Given the description of an element on the screen output the (x, y) to click on. 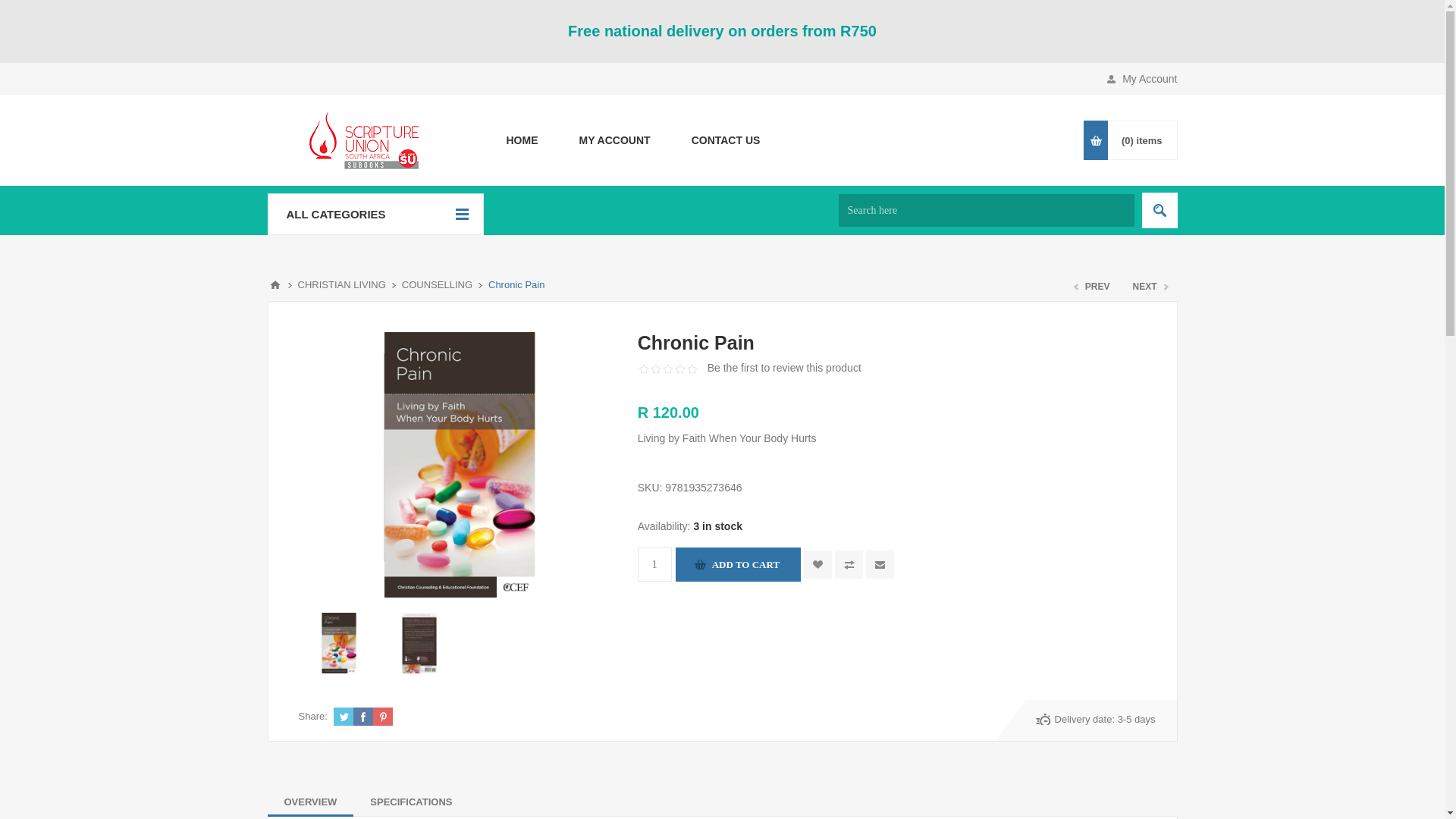
HOME (520, 139)
My Account (613, 139)
Home (520, 139)
MY ACCOUNT (613, 139)
1 (654, 564)
